Given the description of an element on the screen output the (x, y) to click on. 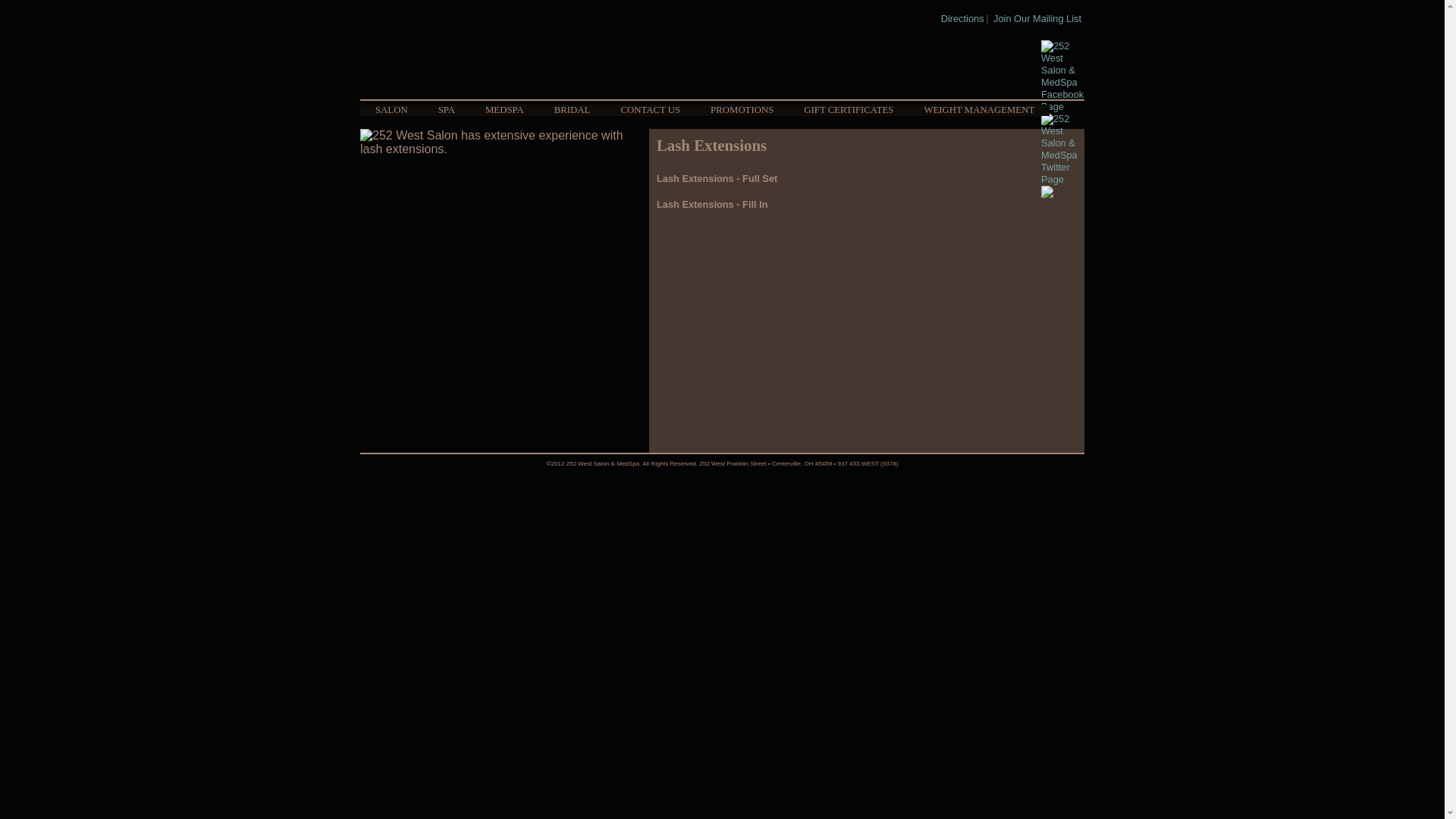
GIFT CERTIFICATES Element type: text (848, 110)
 Join Our Mailing List Element type: text (1036, 18)
PROMOTIONS Element type: text (741, 110)
BRIDAL Element type: text (572, 110)
Directions Element type: text (962, 18)
SALON Element type: text (391, 110)
MEDSPA Element type: text (504, 110)
CONTACT US Element type: text (650, 110)
WEIGHT MANAGEMENT Element type: text (978, 110)
252 West Salon & MedSpa Element type: text (448, 53)
SPA Element type: text (446, 110)
